Given the description of an element on the screen output the (x, y) to click on. 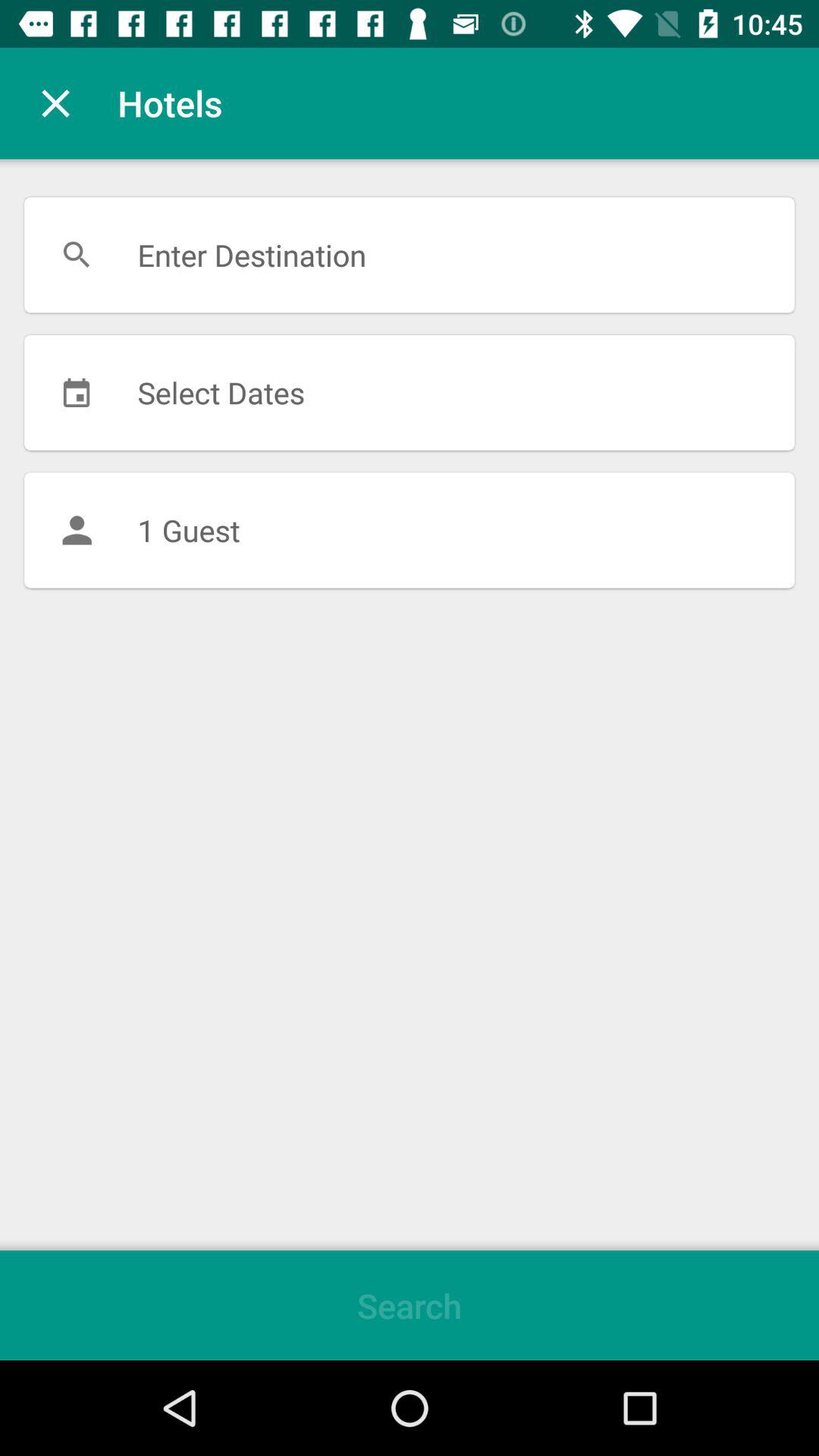
turn off the icon next to hotels item (55, 103)
